Given the description of an element on the screen output the (x, y) to click on. 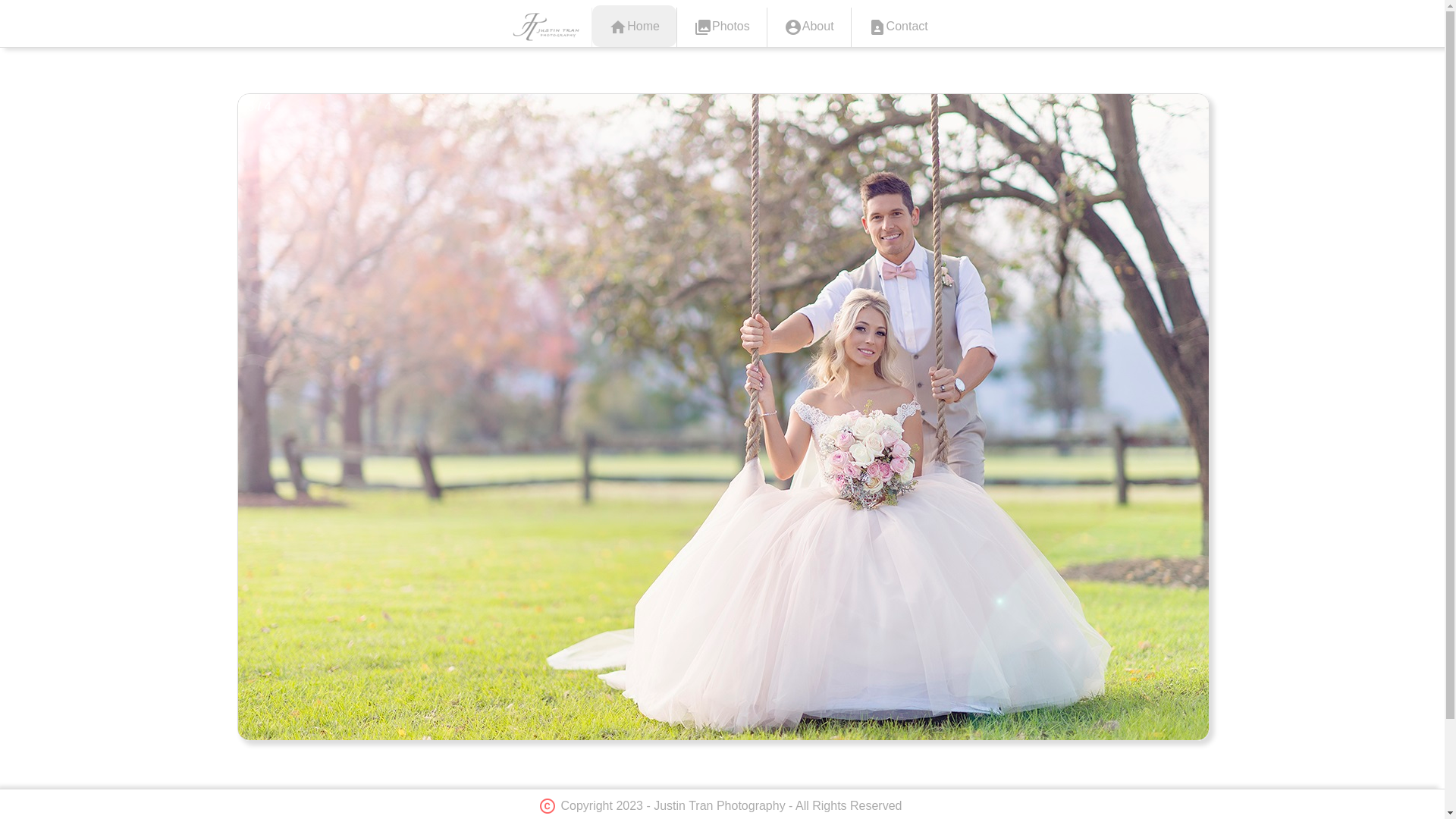
photo_libraryPhotos Element type: text (721, 26)
homeHome Element type: text (634, 26)
contact_pageContact Element type: text (897, 26)
account_circleAbout Element type: text (808, 26)
